Given the description of an element on the screen output the (x, y) to click on. 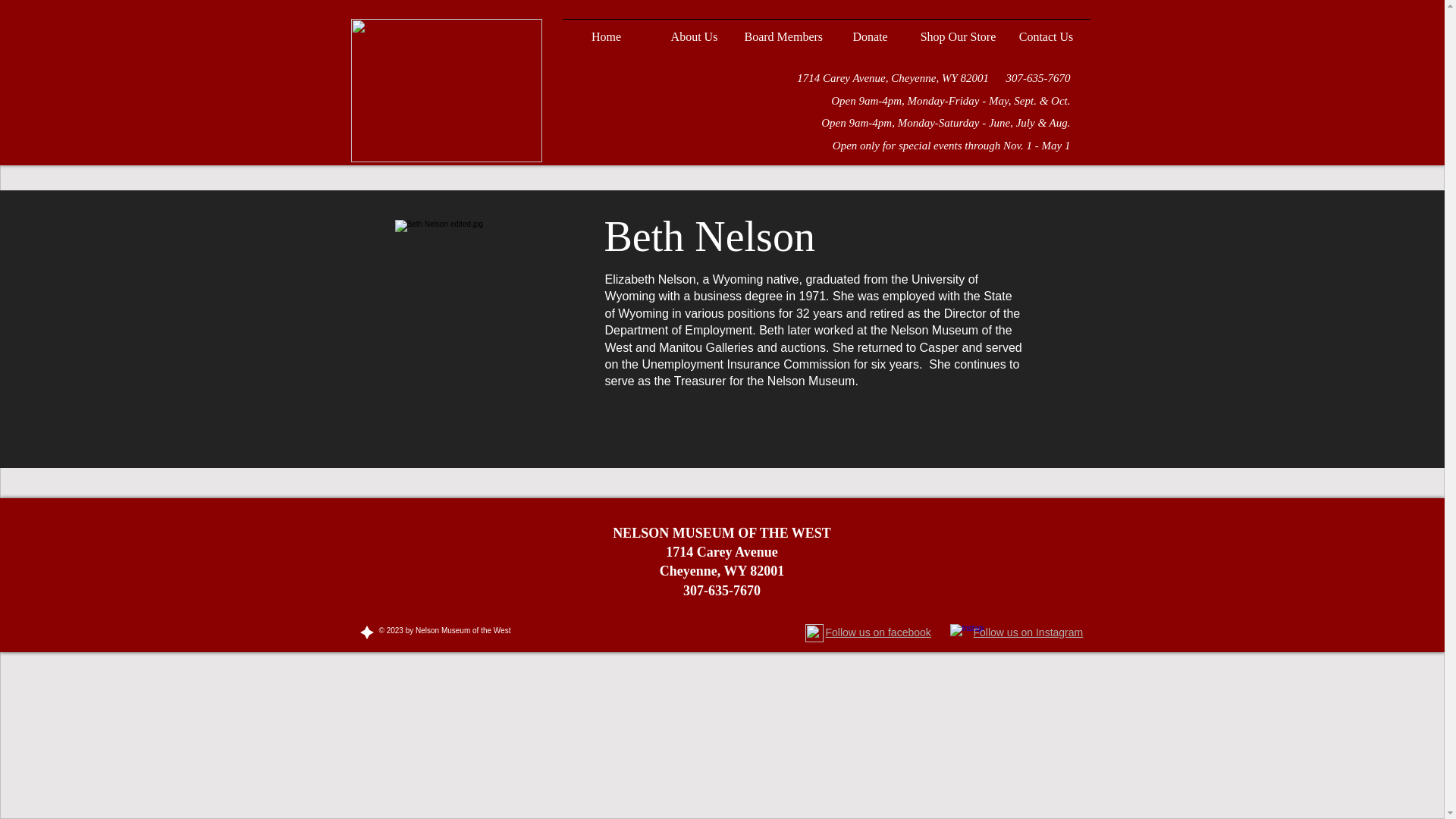
Contact Us (1046, 29)
Follow us on facebook (877, 632)
Board Members (782, 29)
Home (606, 29)
Donate (870, 29)
Follow us on Instagram (1028, 632)
About Us (694, 29)
Shop Our Store (958, 29)
